Given the description of an element on the screen output the (x, y) to click on. 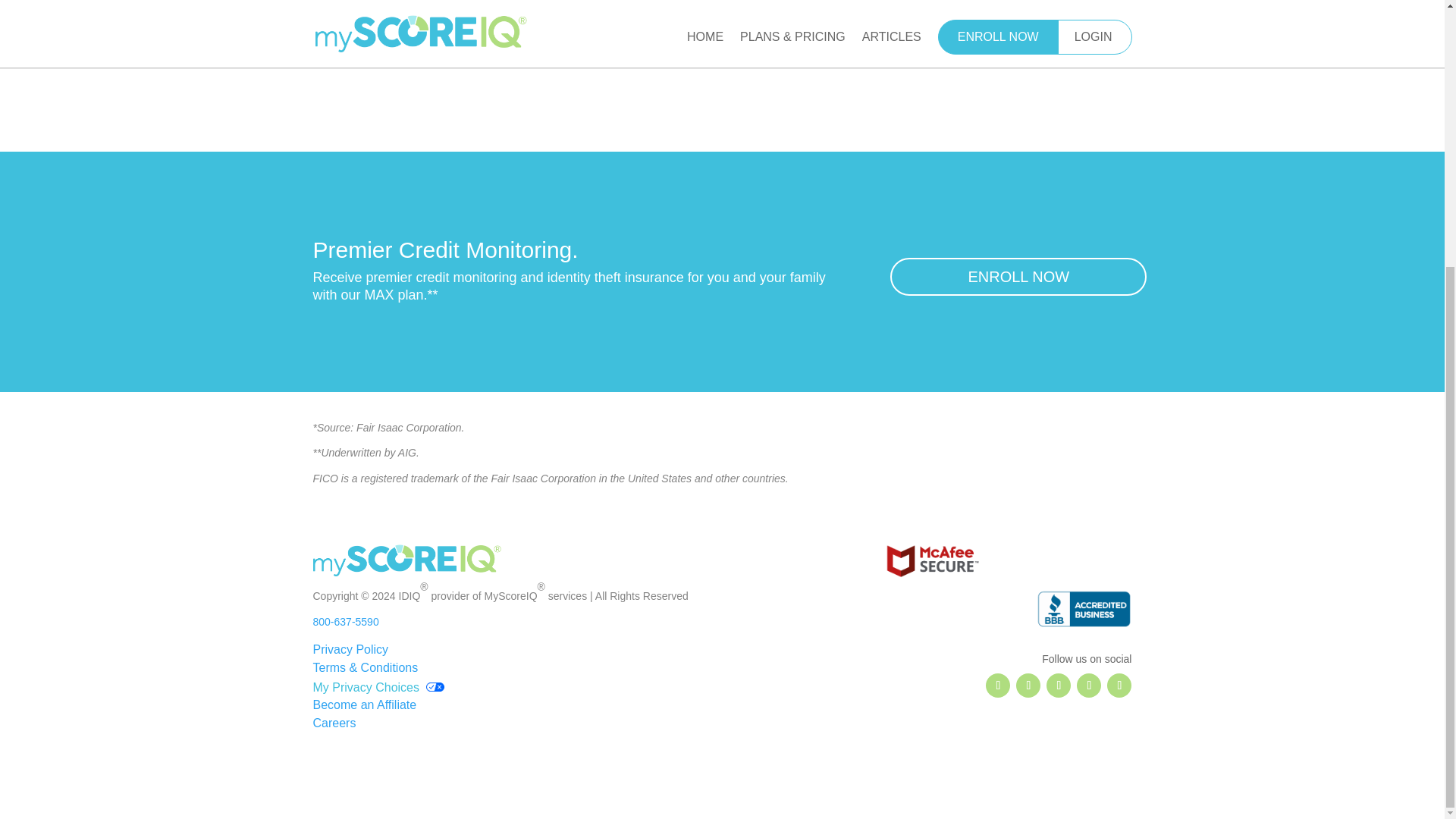
Follow on Instagram (1058, 685)
GO BACK TO OUR ARTICLES (722, 44)
Follow on Facebook (997, 685)
Follow on Youtube (1118, 685)
Become an Affiliate (364, 704)
Careers (334, 722)
800-637-5590 (345, 621)
Follow on X (1028, 685)
ENROLL NOW (1018, 276)
Follow on TikTok (1088, 685)
My Privacy Choices (378, 685)
Privacy Policy (350, 649)
